Given the description of an element on the screen output the (x, y) to click on. 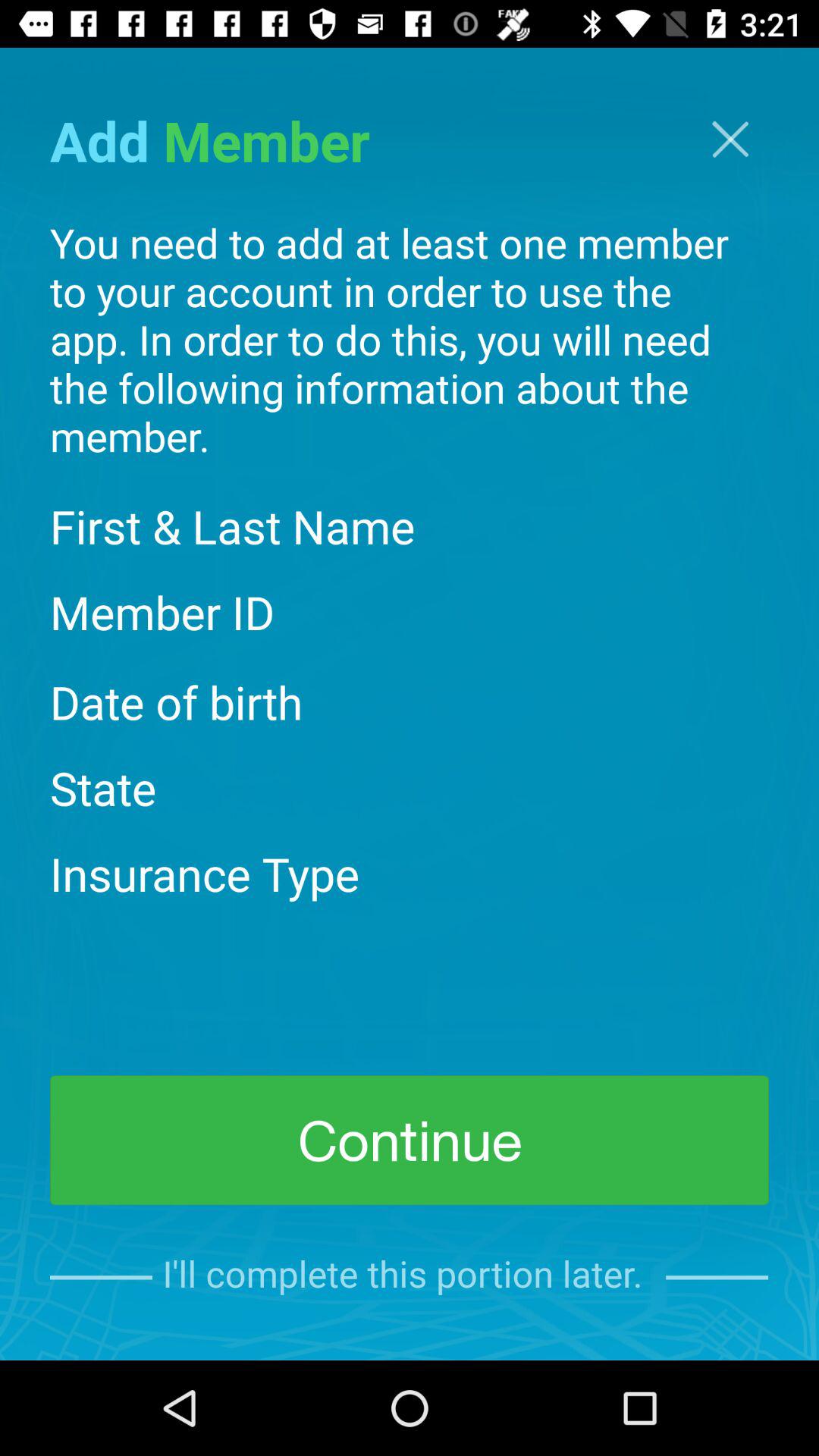
tap the icon below the continue (409, 1277)
